Given the description of an element on the screen output the (x, y) to click on. 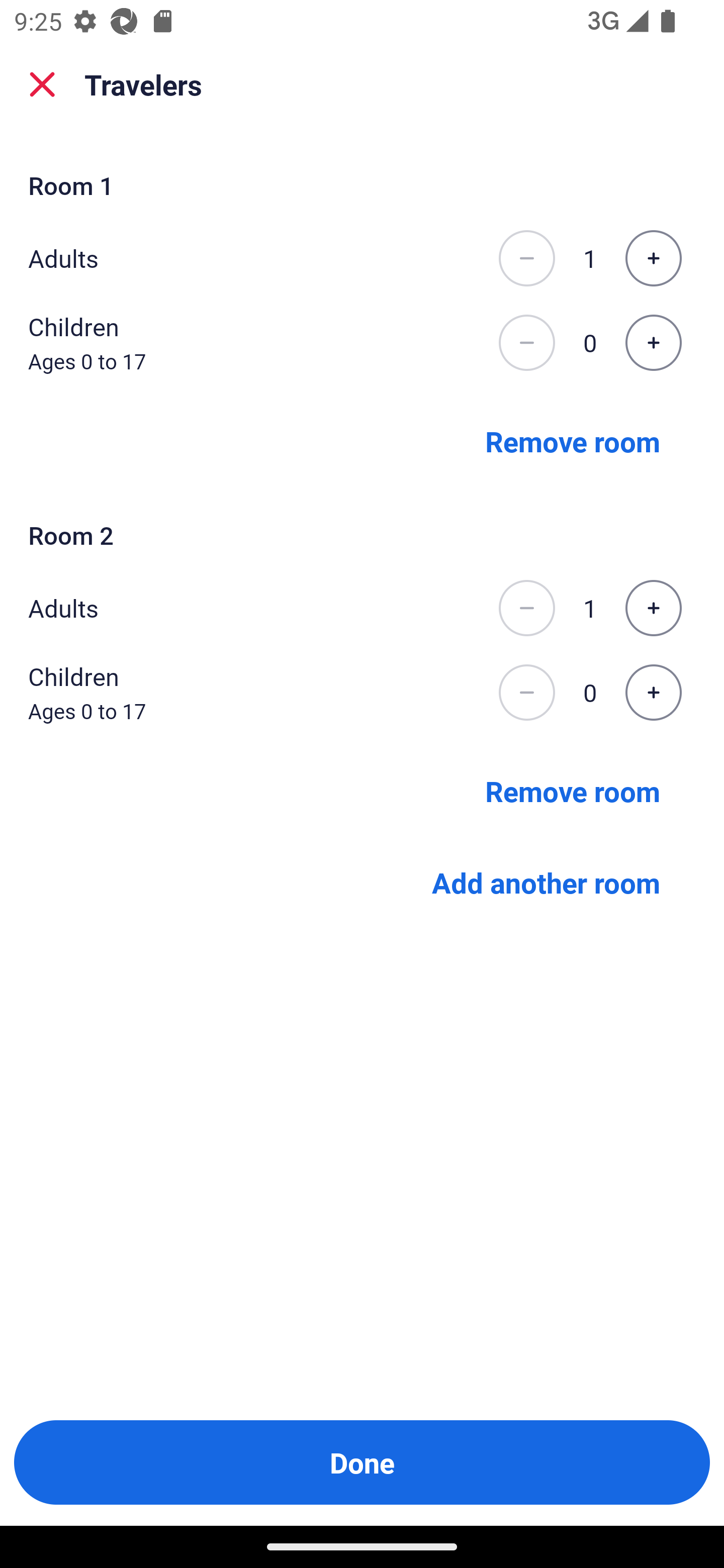
close (42, 84)
Decrease the number of adults (526, 258)
Increase the number of adults (653, 258)
Decrease the number of children (526, 343)
Increase the number of children (653, 343)
Remove room (572, 440)
Decrease the number of adults (526, 608)
Increase the number of adults (653, 608)
Decrease the number of children (526, 692)
Increase the number of children (653, 692)
Remove room (572, 790)
Add another room (545, 882)
Done (361, 1462)
